Given the description of an element on the screen output the (x, y) to click on. 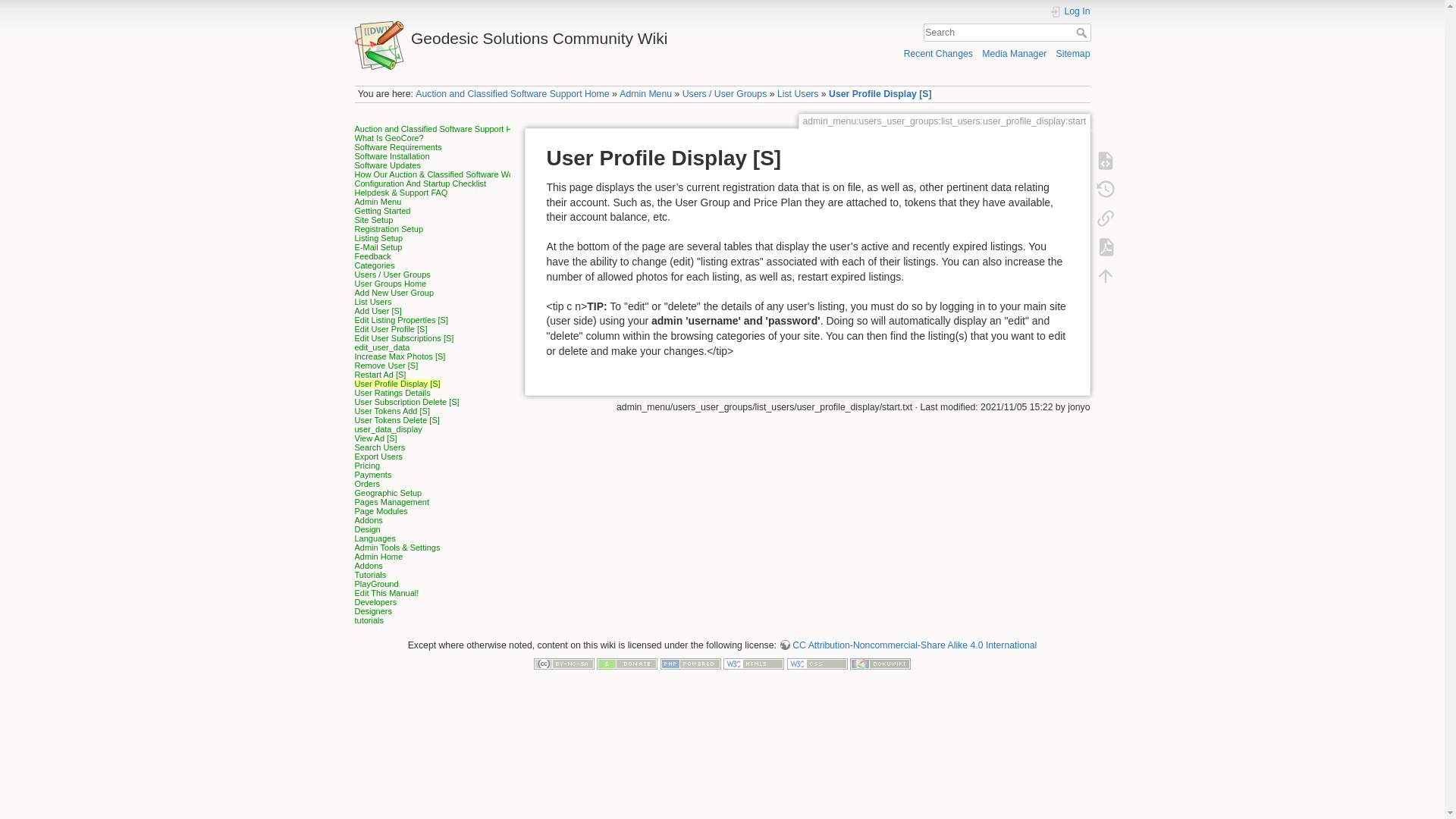
Geodesic Solutions Community Wiki (534, 34)
Recent Changes (938, 53)
Registration Setup (389, 228)
Search (1082, 32)
Site Setup (374, 219)
start (511, 93)
Auction and Classified Software Support Home (441, 128)
Search (1082, 32)
Software Requirements (398, 146)
Getting Started (382, 210)
